Given the description of an element on the screen output the (x, y) to click on. 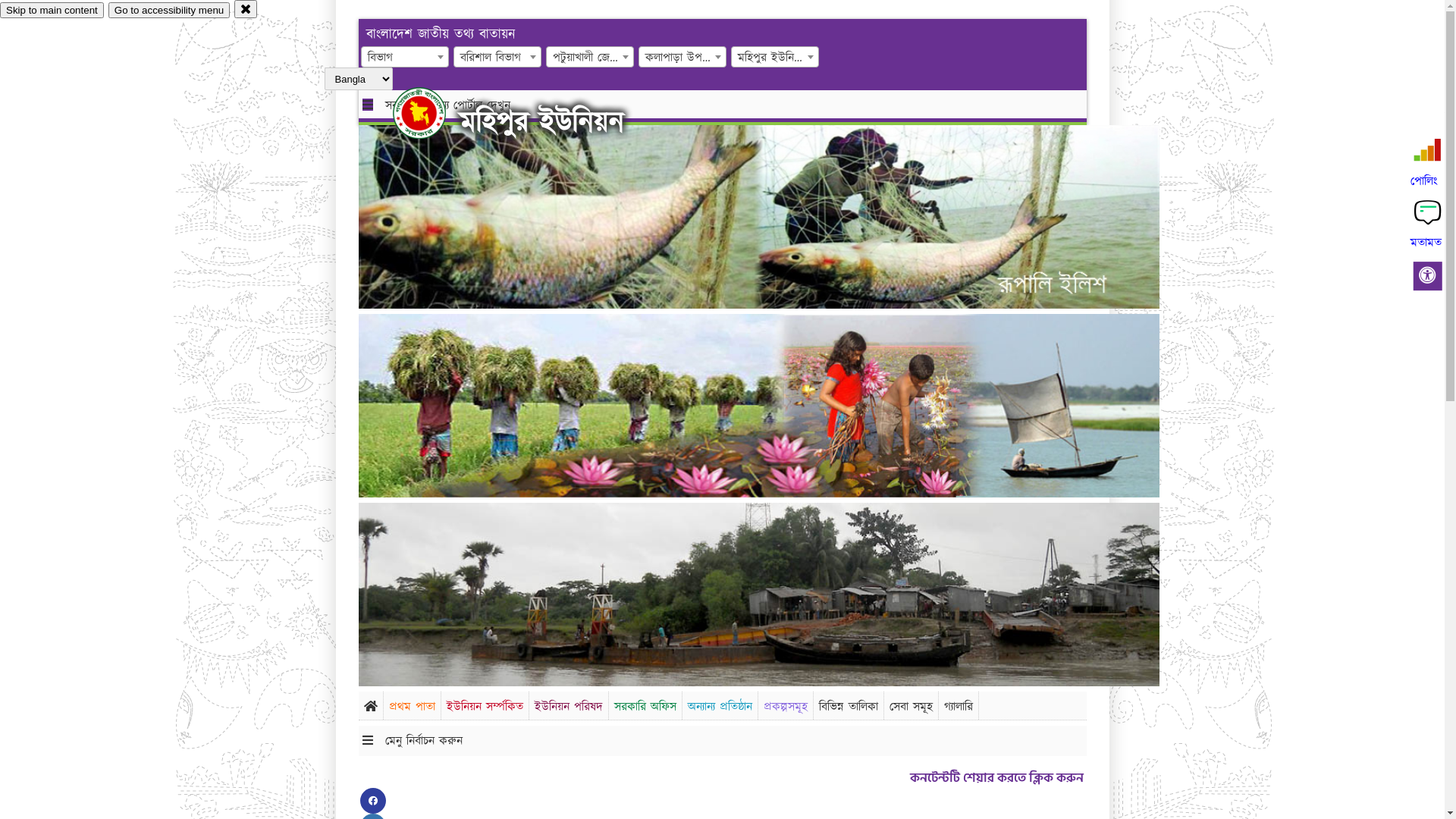
Go to accessibility menu Element type: text (168, 10)
close Element type: hover (245, 9)

                
             Element type: hover (431, 112)
Skip to main content Element type: text (51, 10)
